Given the description of an element on the screen output the (x, y) to click on. 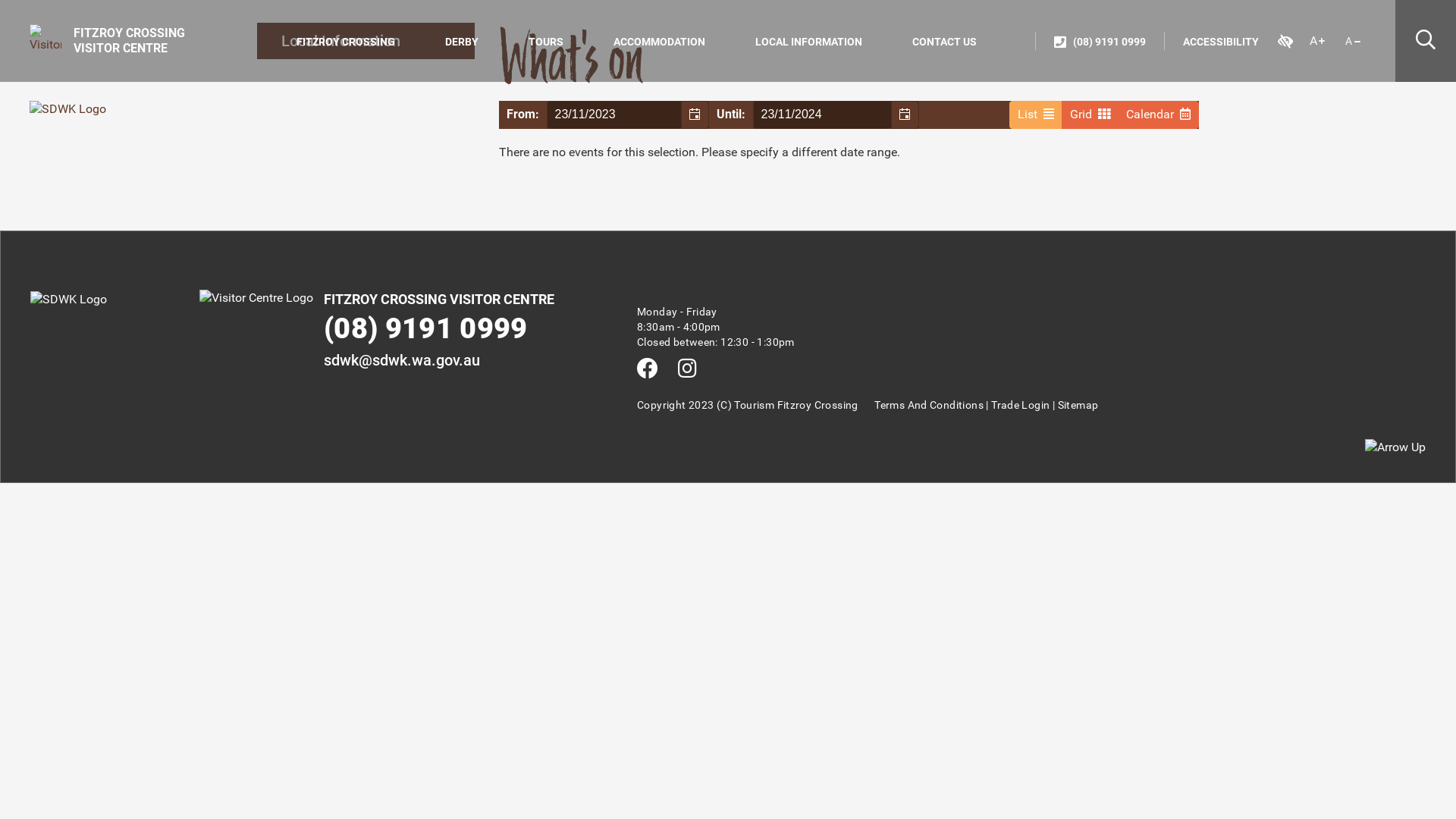
Shire of Derby / West Kimberley Element type: hover (67, 109)
List Element type: text (1035, 114)
ACCESSIBILITY Element type: text (1220, 40)
A Element type: text (1352, 40)
LOCAL INFORMATION Element type: text (808, 41)
FITZROY CROSSING
VISITOR CENTRE Element type: text (107, 40)
View the Fitzroy Crossing on Facebook Element type: hover (647, 369)
CONTACT US Element type: text (944, 41)
Calendar Element type: text (1157, 114)
View the Fitzroy Crossing on Instagram Element type: hover (686, 369)
ACCOMMODATION Element type: text (659, 41)
Trade Login Element type: text (1020, 404)
Open the calendar popup. Element type: hover (694, 114)
Scroll back up to the top Element type: hover (1395, 446)
A Element type: text (1316, 40)
DERBY Element type: text (461, 41)
Change Colour Contrast Element type: hover (1284, 40)
Open the calendar popup. Element type: hover (904, 114)
Terms And Conditions Element type: text (928, 404)
FITZROY CROSSING Element type: text (345, 41)
Grid Element type: text (1089, 114)
Local Information Element type: text (365, 40)
sdwk@sdwk.wa.gov.au Element type: text (401, 360)
(08) 9191 0999 Element type: text (1099, 40)
(08) 9191 0999 Element type: text (425, 326)
Sitemap Element type: text (1077, 404)
TOURS Element type: text (545, 41)
